Given the description of an element on the screen output the (x, y) to click on. 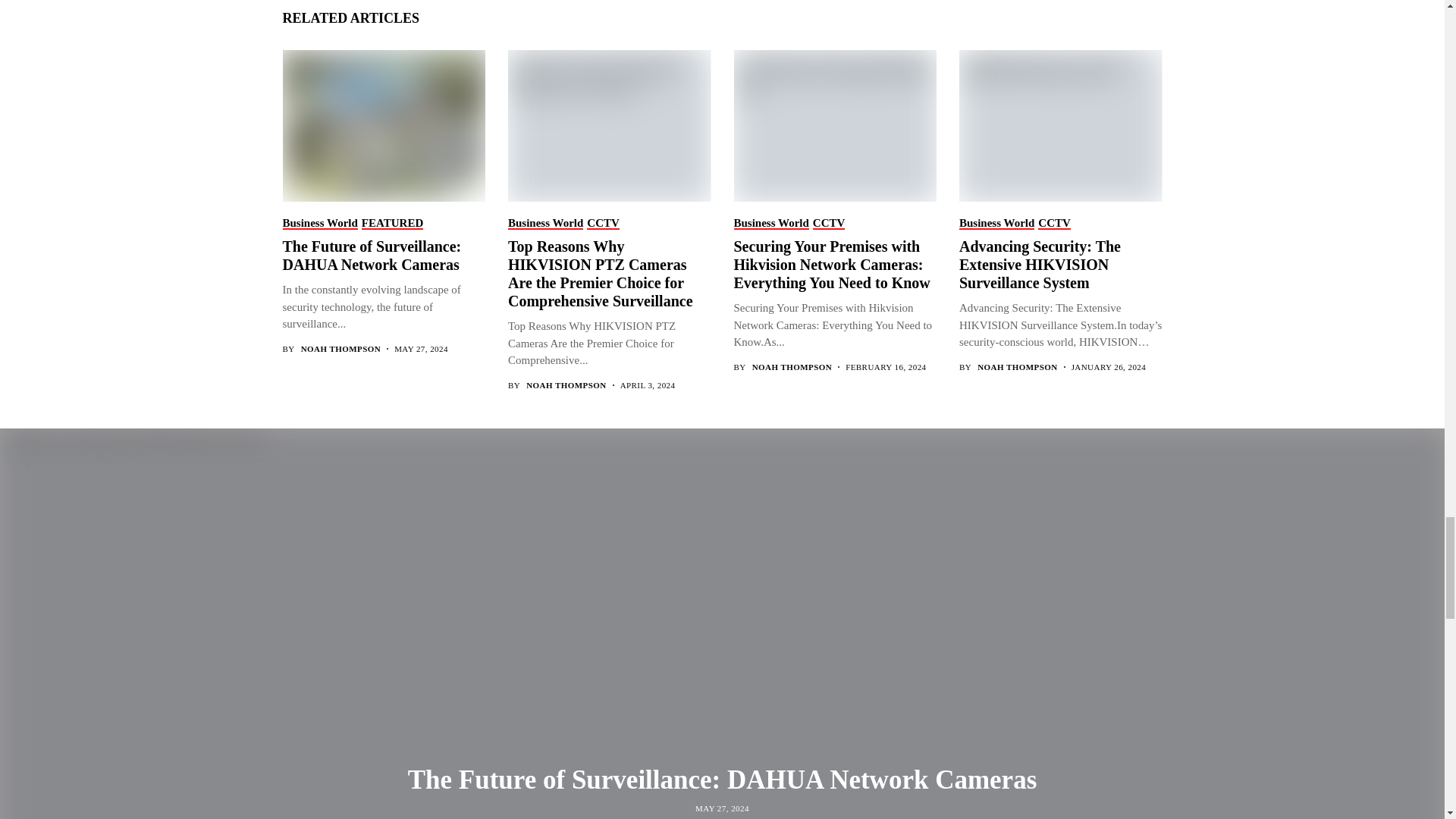
Posts by Noah Thompson (1016, 367)
Posts by Noah Thompson (340, 348)
The Future of Surveillance: DAHUA Network Cameras (382, 125)
Posts by Noah Thompson (565, 385)
Posts by Noah Thompson (791, 367)
